Given the description of an element on the screen output the (x, y) to click on. 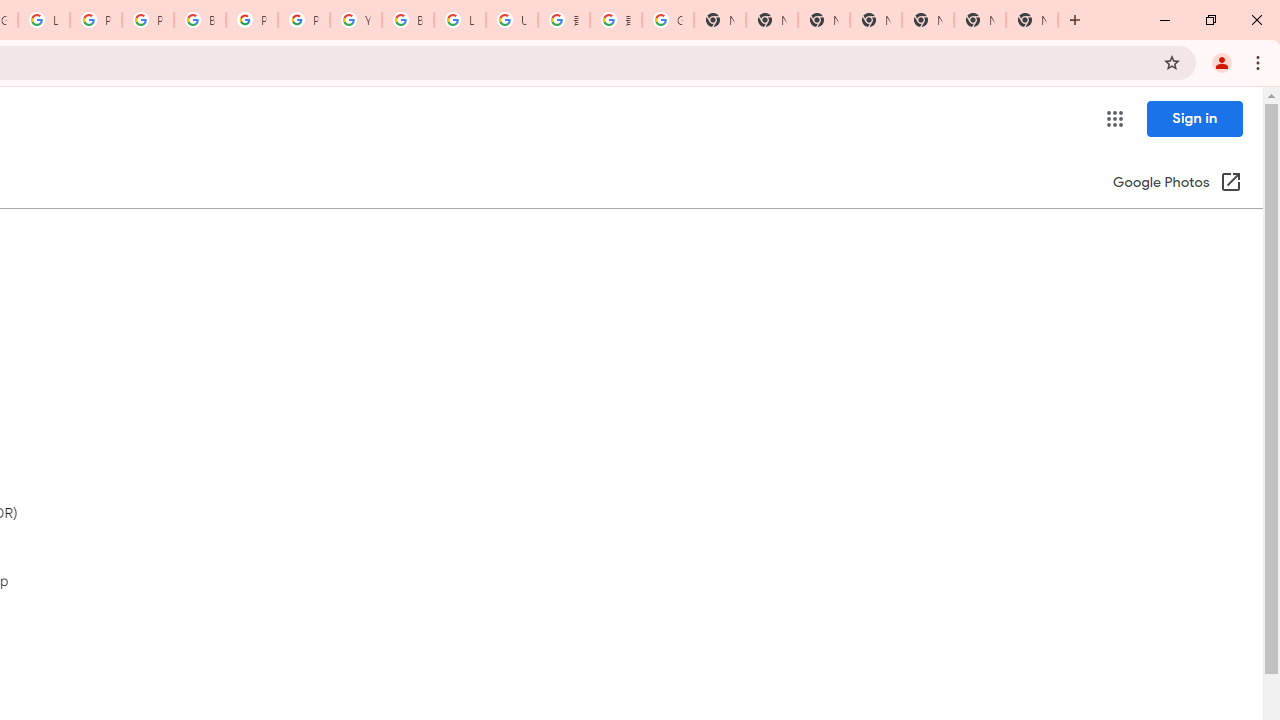
Sign in (1194, 118)
New Tab (1032, 20)
Browse Chrome as a guest - Computer - Google Chrome Help (407, 20)
Google apps (1114, 118)
Privacy Help Center - Policies Help (95, 20)
Google Photos (Open in a new window) (1177, 183)
